Given the description of an element on the screen output the (x, y) to click on. 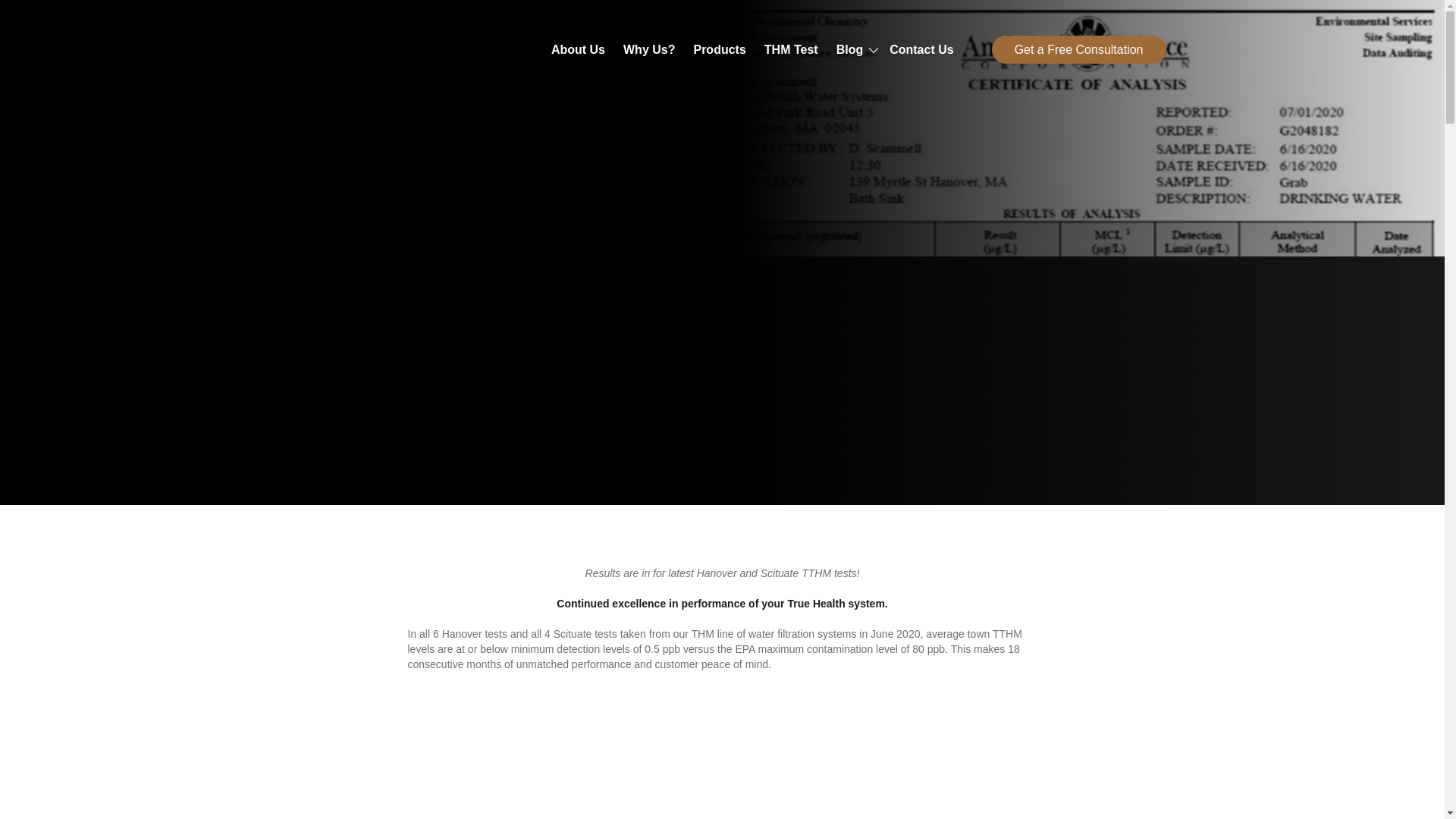
Why Us? (649, 49)
Products (719, 49)
Blog (849, 49)
Get a Free Consultation (1078, 49)
Contact Us (921, 49)
THM Test (791, 49)
About Us (578, 49)
